Given the description of an element on the screen output the (x, y) to click on. 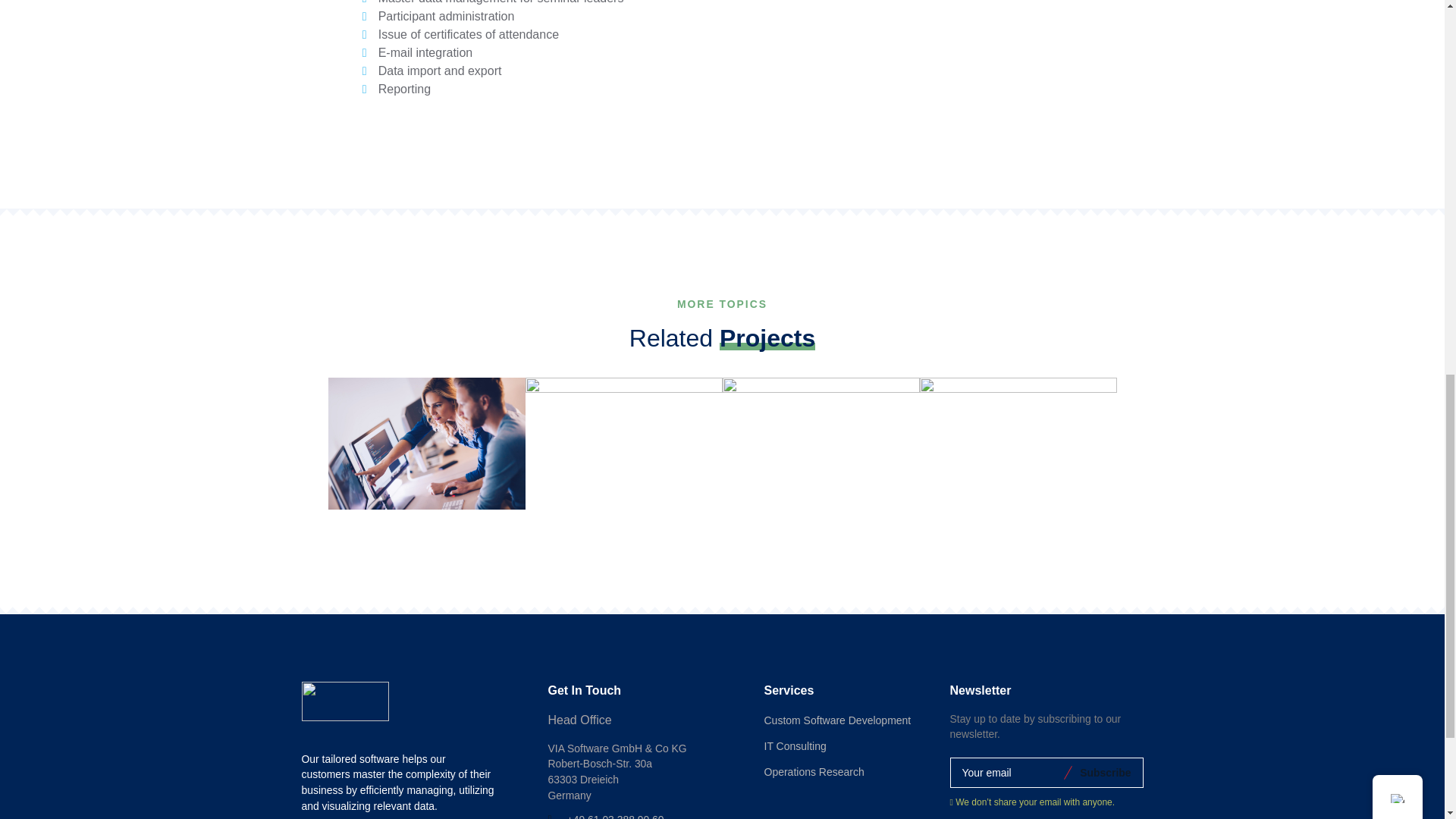
Custom Software Development (837, 720)
IT Consulting (795, 746)
Subscribe (1102, 772)
Operations Research (814, 772)
